Given the description of an element on the screen output the (x, y) to click on. 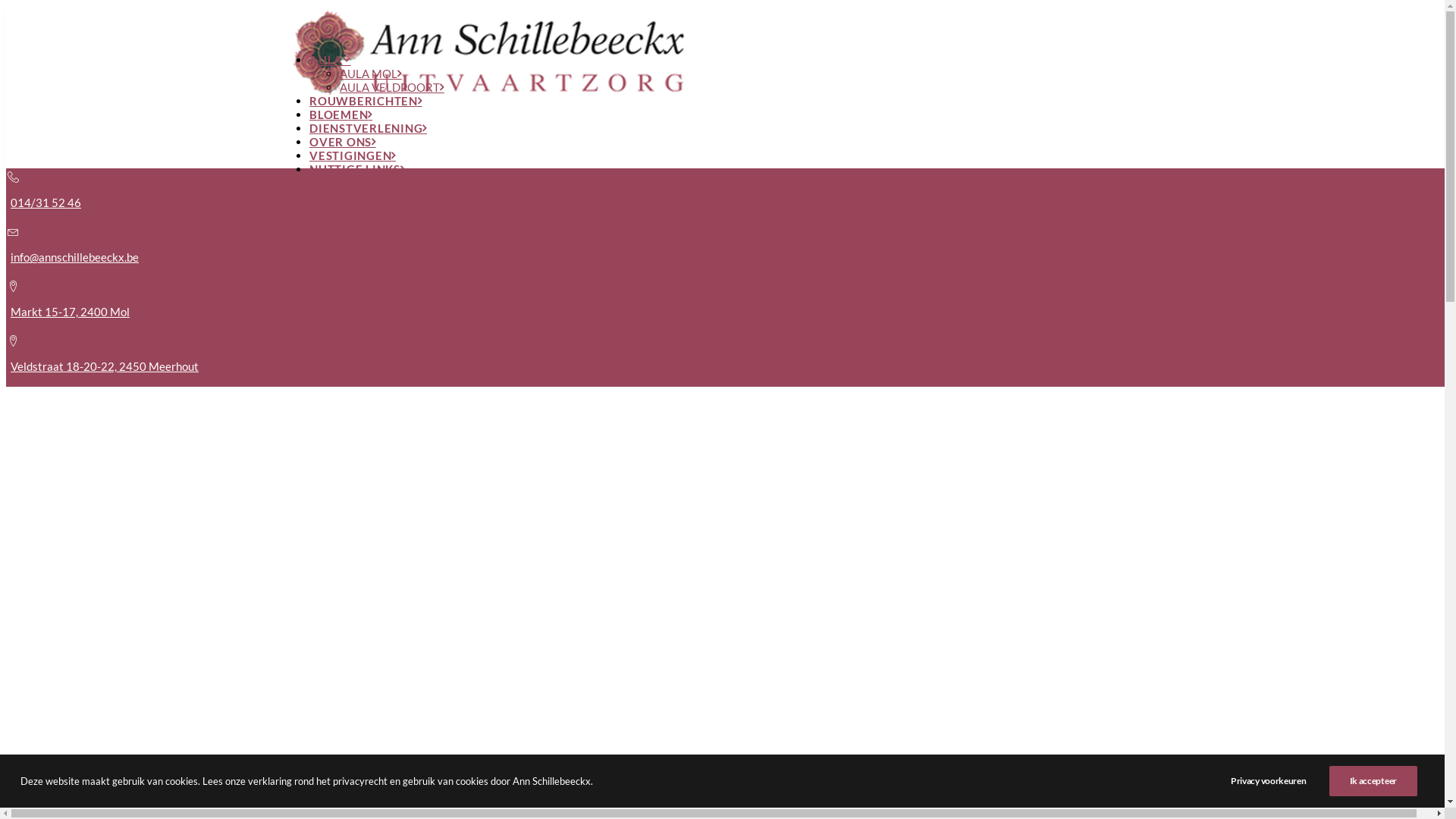
AULA MOL Element type: text (370, 73)
Privacy voorkeuren Element type: text (1278, 780)
OVER ONS Element type: text (342, 141)
ROUWBERICHTEN Element type: text (365, 100)
info@annschillebeeckx.be Element type: text (74, 256)
014/31 52 46 Element type: text (45, 202)
Markt 15-17, 2400 Mol Element type: text (69, 311)
BLOEMEN Element type: text (340, 114)
DIENSTVERLENING Element type: text (367, 127)
NUTTIGE LINKS Element type: text (356, 168)
Ik accepteer Element type: text (1373, 780)
AULA Element type: text (330, 59)
Veldstraat 18-20-22, 2450 Meerhout Element type: text (104, 366)
VESTIGINGEN Element type: text (352, 155)
AULA VELDPOORT Element type: text (391, 87)
